Given the description of an element on the screen output the (x, y) to click on. 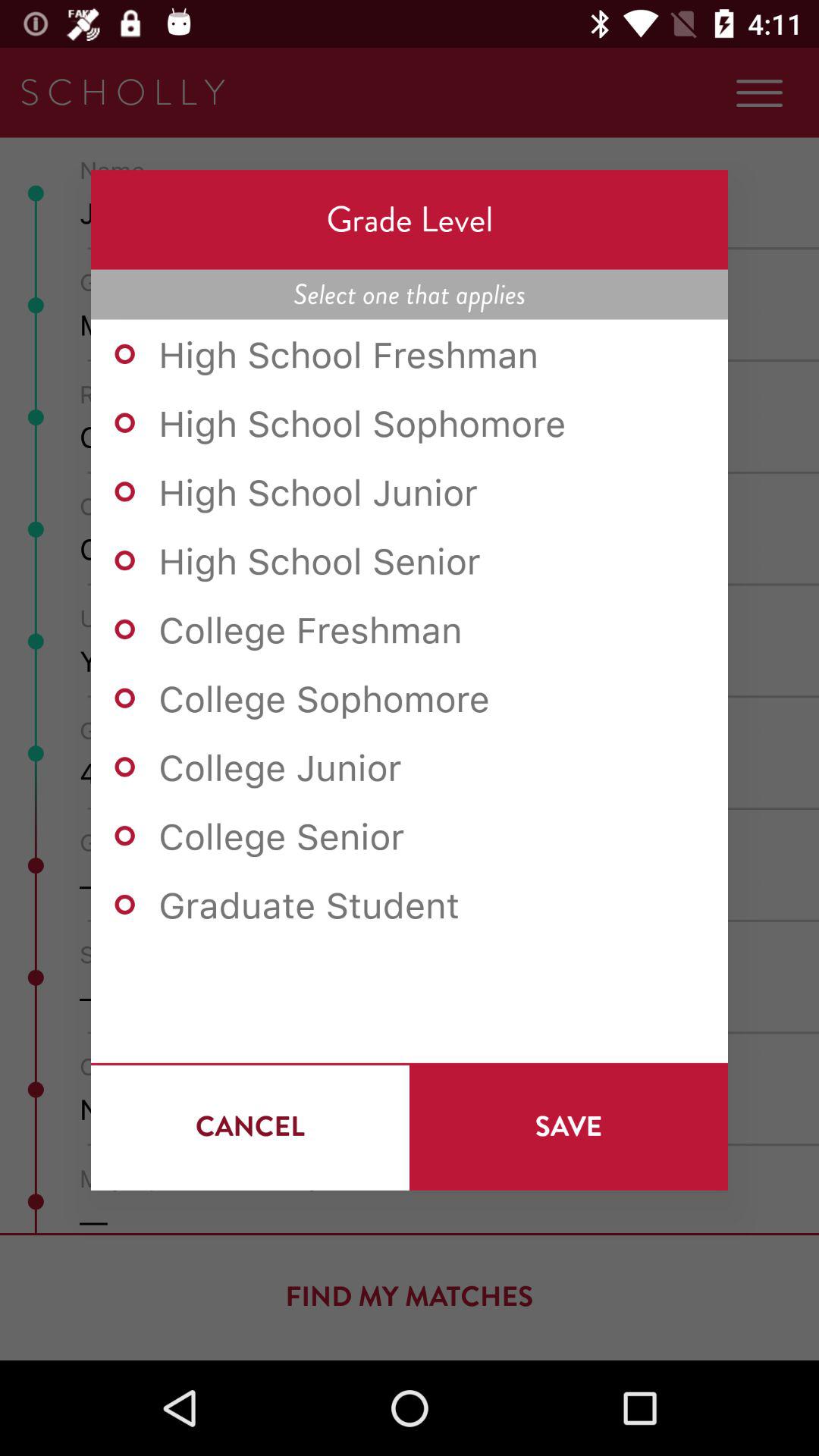
click the icon to the right of cancel (568, 1126)
